Given the description of an element on the screen output the (x, y) to click on. 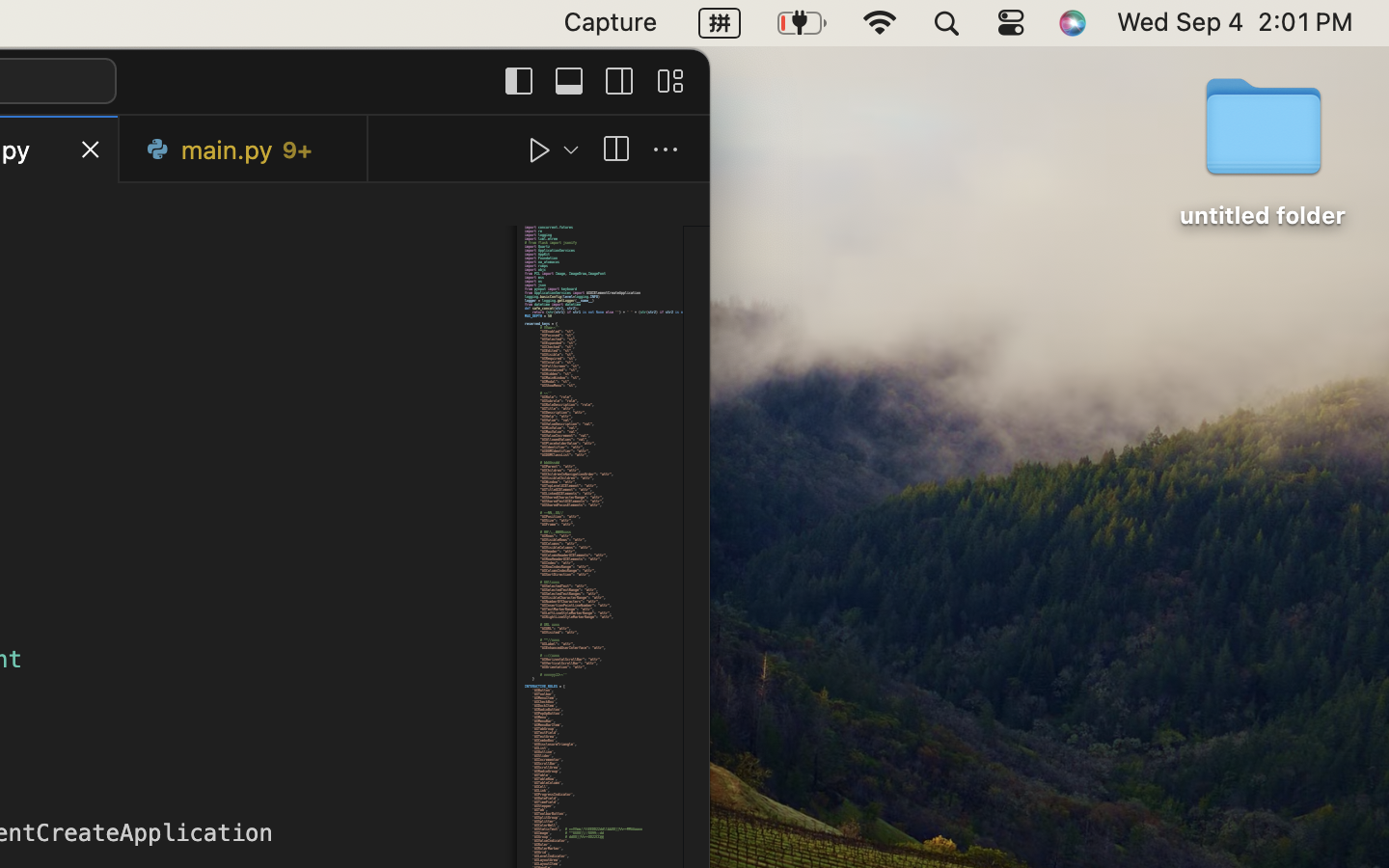
 Element type: AXCheckBox (619, 80)
 Element type: AXCheckBox (568, 80)
 Element type: AXButton (669, 80)
